Given the description of an element on the screen output the (x, y) to click on. 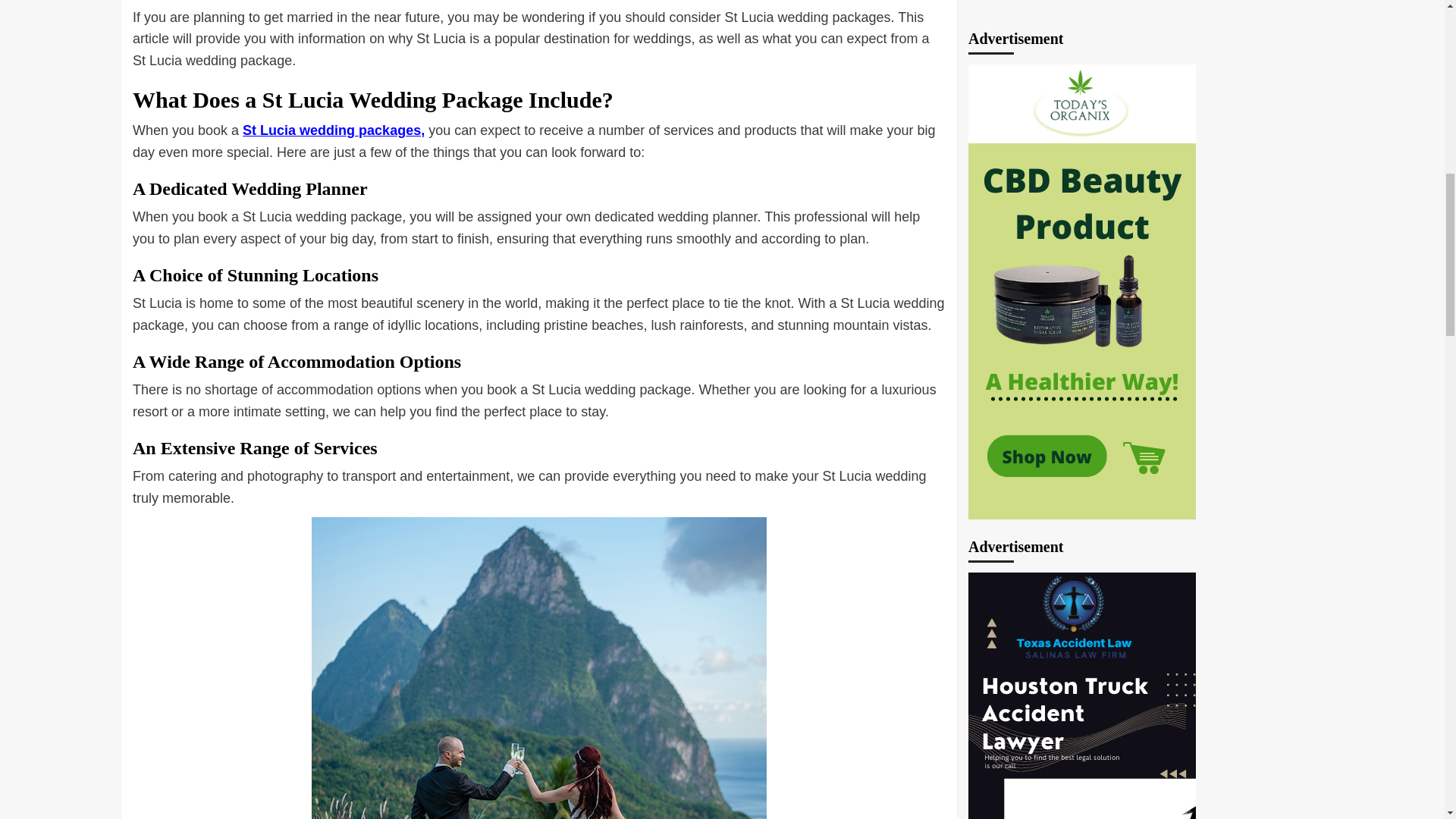
Adventure Travel Destinations Beyond the Ordinary (1145, 650)
LAW (1246, 737)
INSURANCE (1188, 737)
Unveiling the Marvels: Smart Wearable Gadgets for Fitness (1145, 578)
MARKETING (1071, 769)
TRAVEL (1218, 769)
Search (1261, 393)
Search (1261, 393)
LIFESTYLE (1000, 769)
TECHNOLOGY (1149, 769)
HEALTH (1124, 737)
GENERAL (1063, 737)
Advertisement (1081, 156)
